Given the description of an element on the screen output the (x, y) to click on. 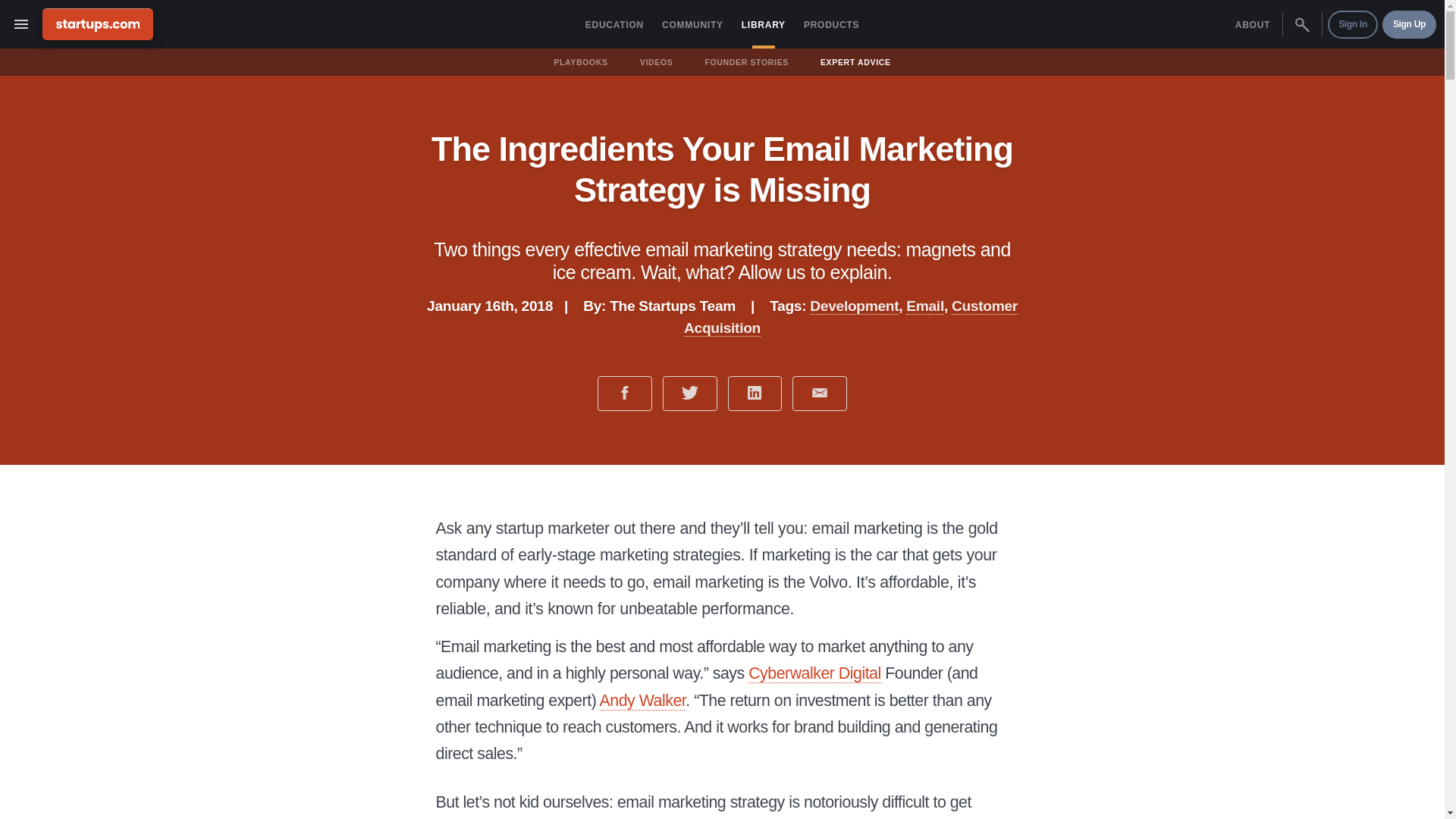
Sign Up (1408, 24)
VIDEOS (656, 62)
PLAYBOOKS (580, 62)
EDUCATION (614, 24)
EXPERT ADVICE (855, 62)
ABOUT (1252, 24)
Sign In (1352, 24)
COMMUNITY (692, 24)
PRODUCTS (830, 24)
LIBRARY (763, 24)
